Given the description of an element on the screen output the (x, y) to click on. 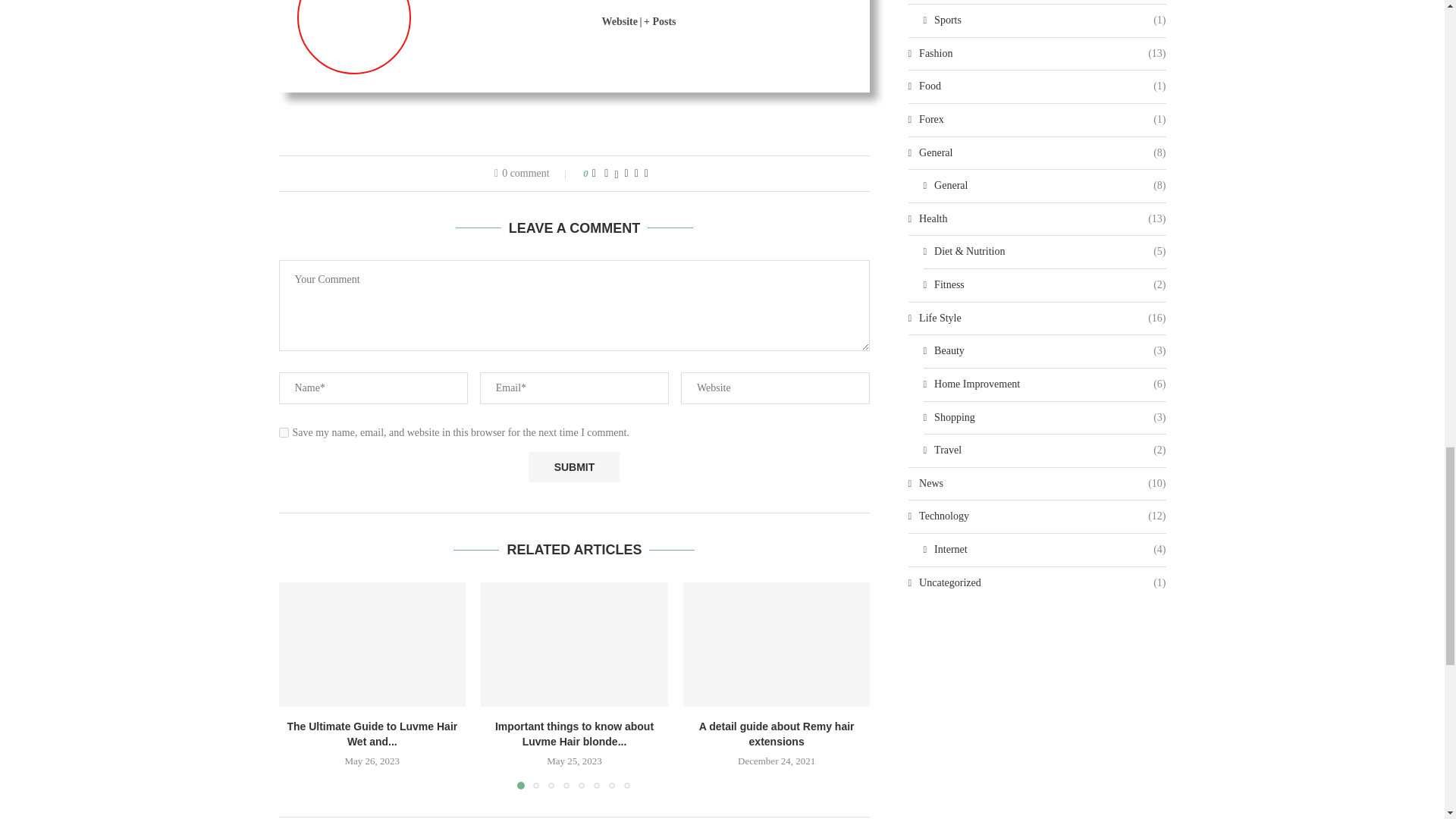
A detail guide about Remy hair extensions (776, 644)
Like (593, 173)
yes (283, 432)
Submit (574, 467)
The Ultimate Guide to Luvme Hair Wet and Wavy Wig (372, 644)
Important things to know about Luvme Hair blonde 613 wig (574, 644)
